Given the description of an element on the screen output the (x, y) to click on. 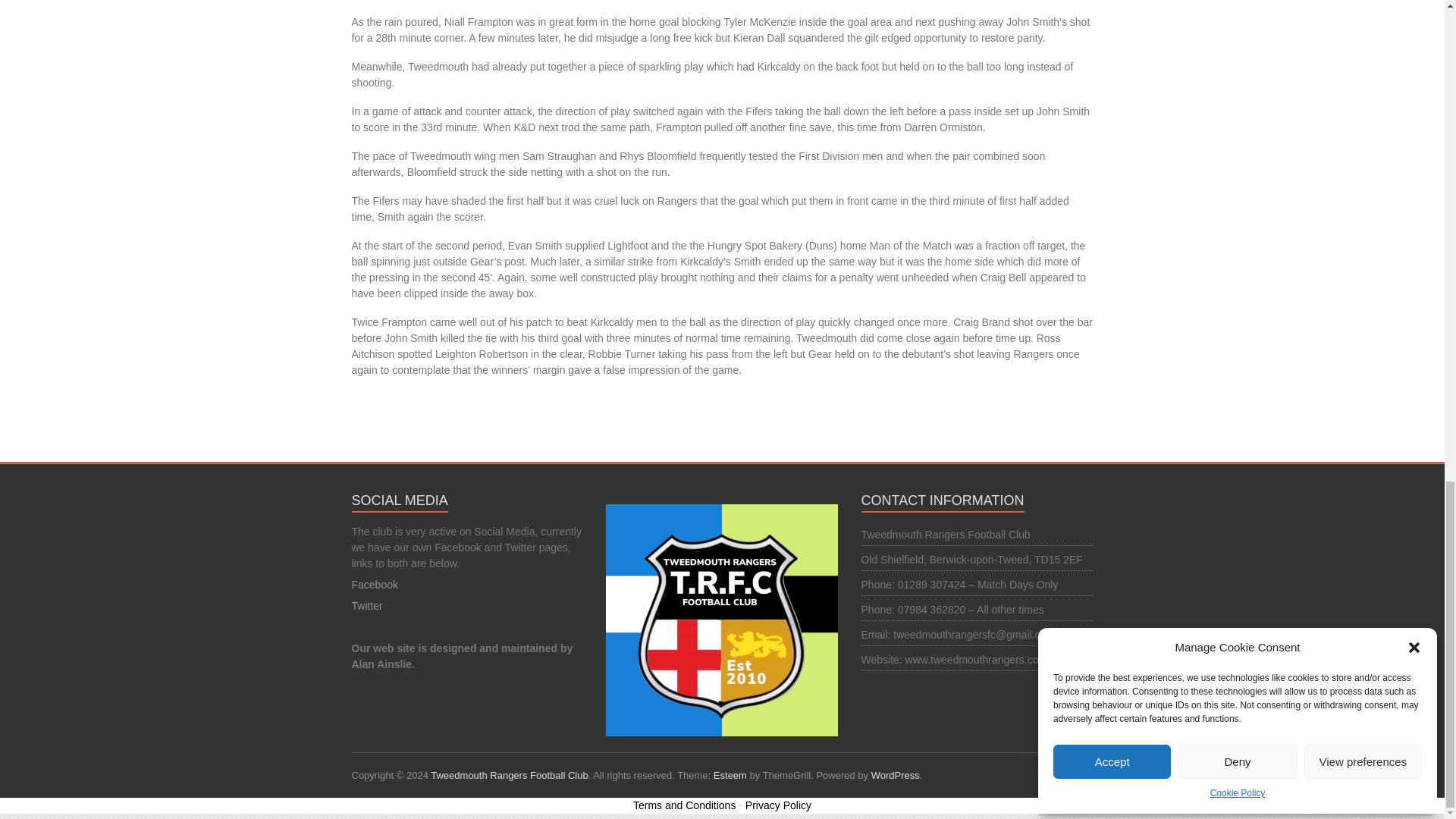
Tweedmouth Rangers Football Club (509, 775)
WordPress (895, 775)
Esteem (729, 775)
Facebook (374, 584)
Twitter (367, 605)
